Given the description of an element on the screen output the (x, y) to click on. 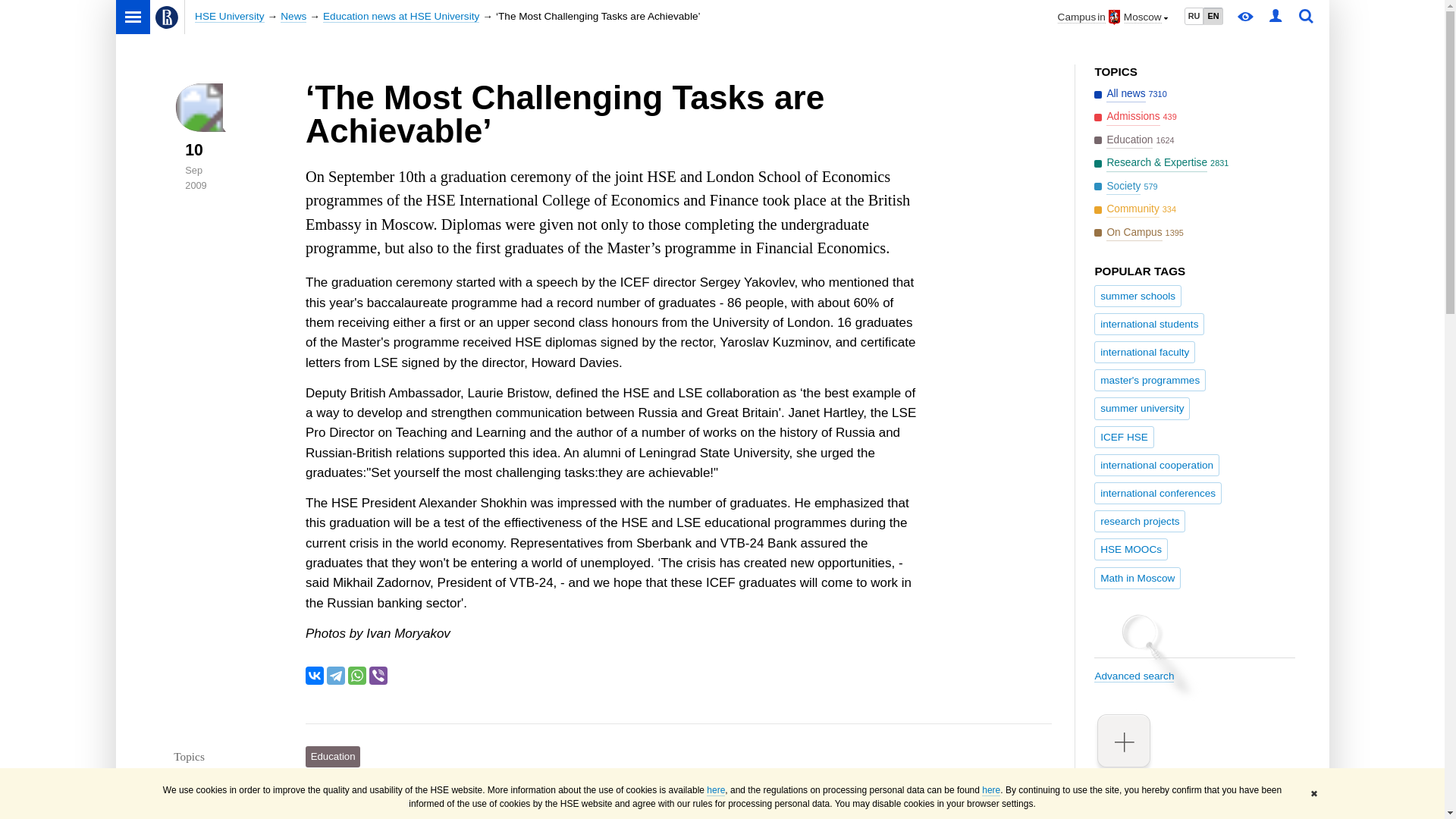
On Campus1395 (1140, 232)
HSE MOOCs (1130, 549)
Telegram (335, 675)
News (293, 16)
Viber (378, 675)
international students (1149, 323)
summer university (1141, 408)
here (715, 790)
international cooperation (1156, 464)
Education1624 (1135, 139)
